Given the description of an element on the screen output the (x, y) to click on. 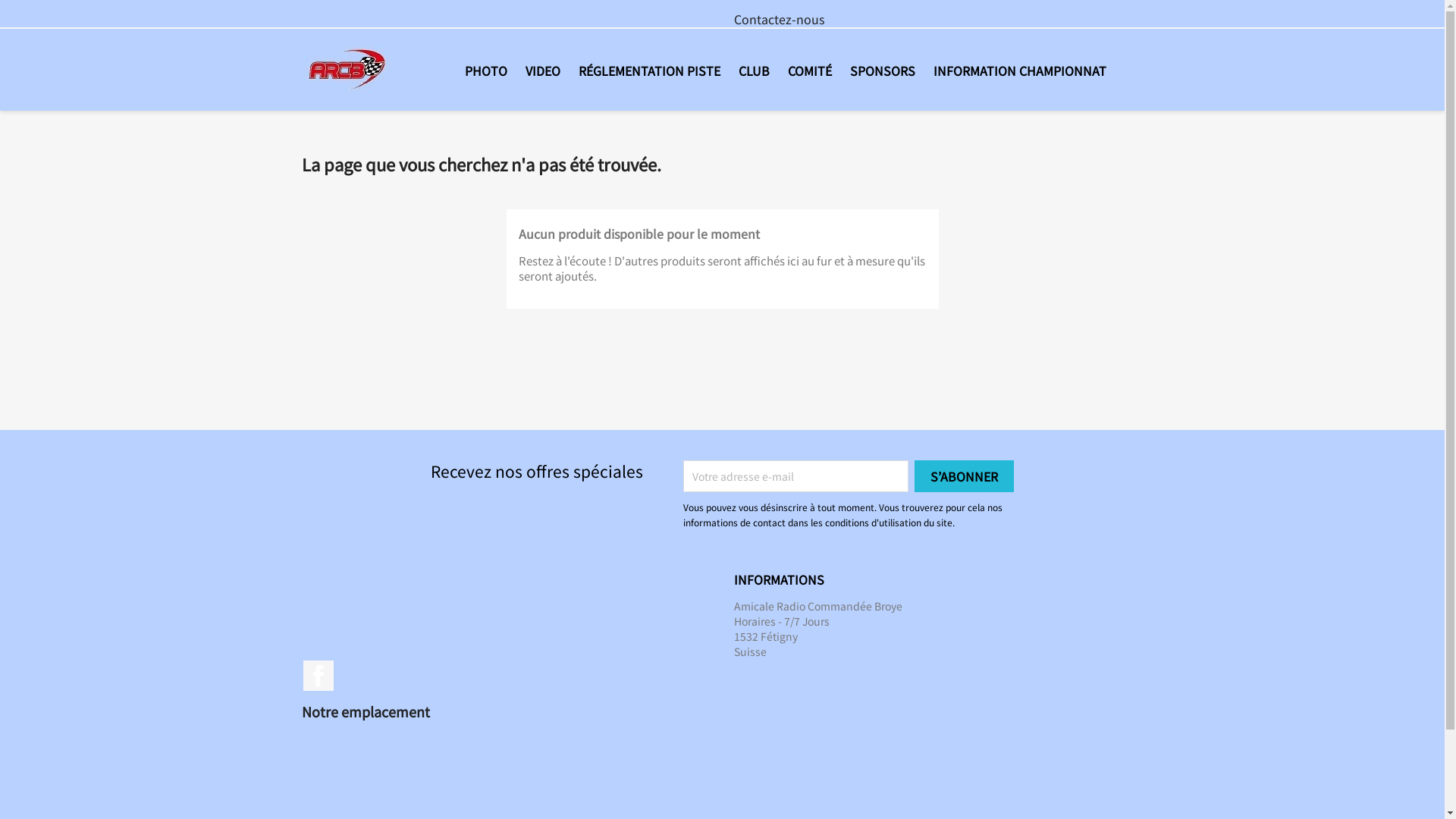
Contactez-nous Element type: text (779, 18)
Facebook Element type: text (318, 675)
CLUB Element type: text (754, 69)
PHOTO Element type: text (485, 69)
VIDEO Element type: text (542, 69)
INFORMATION CHAMPIONNAT Element type: text (1019, 69)
SPONSORS Element type: text (881, 69)
